Given the description of an element on the screen output the (x, y) to click on. 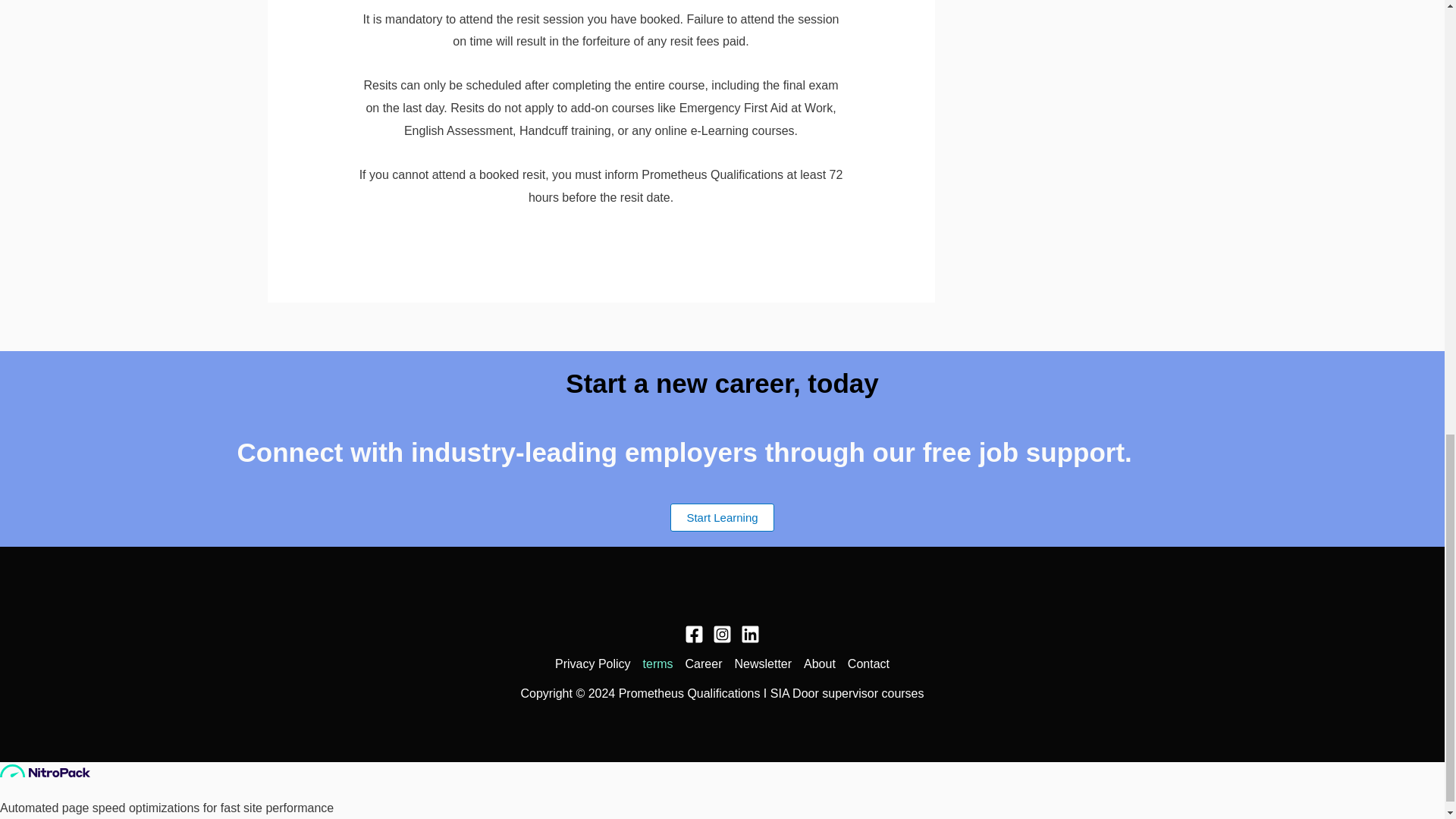
terms (658, 663)
Contact (865, 663)
Newsletter (762, 663)
About (819, 663)
Career (704, 663)
Privacy Policy (595, 663)
Start Learning (721, 517)
